Given the description of an element on the screen output the (x, y) to click on. 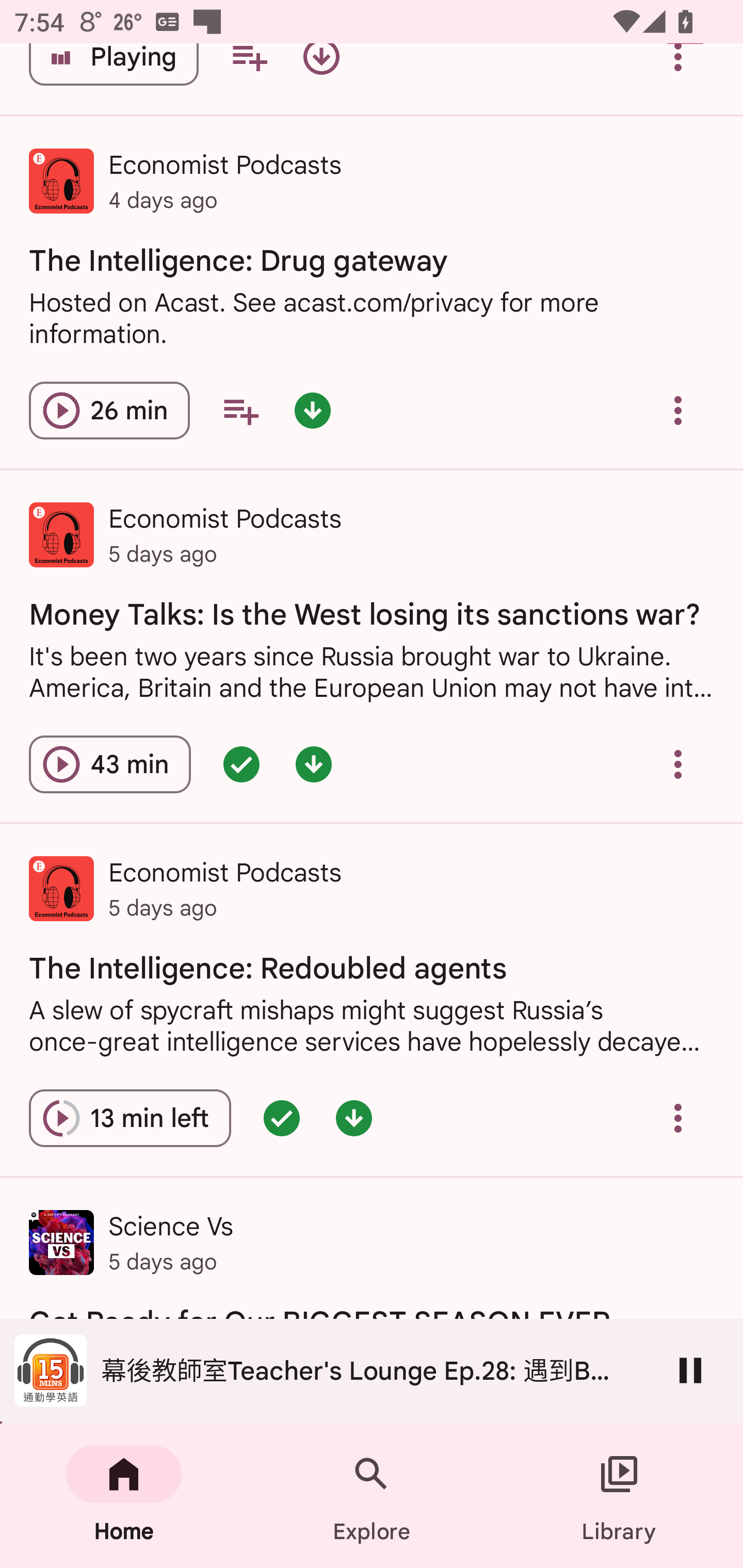
Add to your queue (249, 71)
Download episode (321, 71)
Overflow menu (677, 71)
Play episode The Intelligence: Drug gateway 26 min (109, 409)
Add to your queue (240, 409)
Episode downloaded - double tap for options (312, 409)
Overflow menu (677, 409)
Episode queued - double tap for options (241, 764)
Episode downloaded - double tap for options (313, 764)
Overflow menu (677, 764)
Episode queued - double tap for options (281, 1118)
Episode downloaded - double tap for options (354, 1118)
Overflow menu (677, 1118)
Pause (690, 1370)
Explore (371, 1495)
Library (619, 1495)
